Given the description of an element on the screen output the (x, y) to click on. 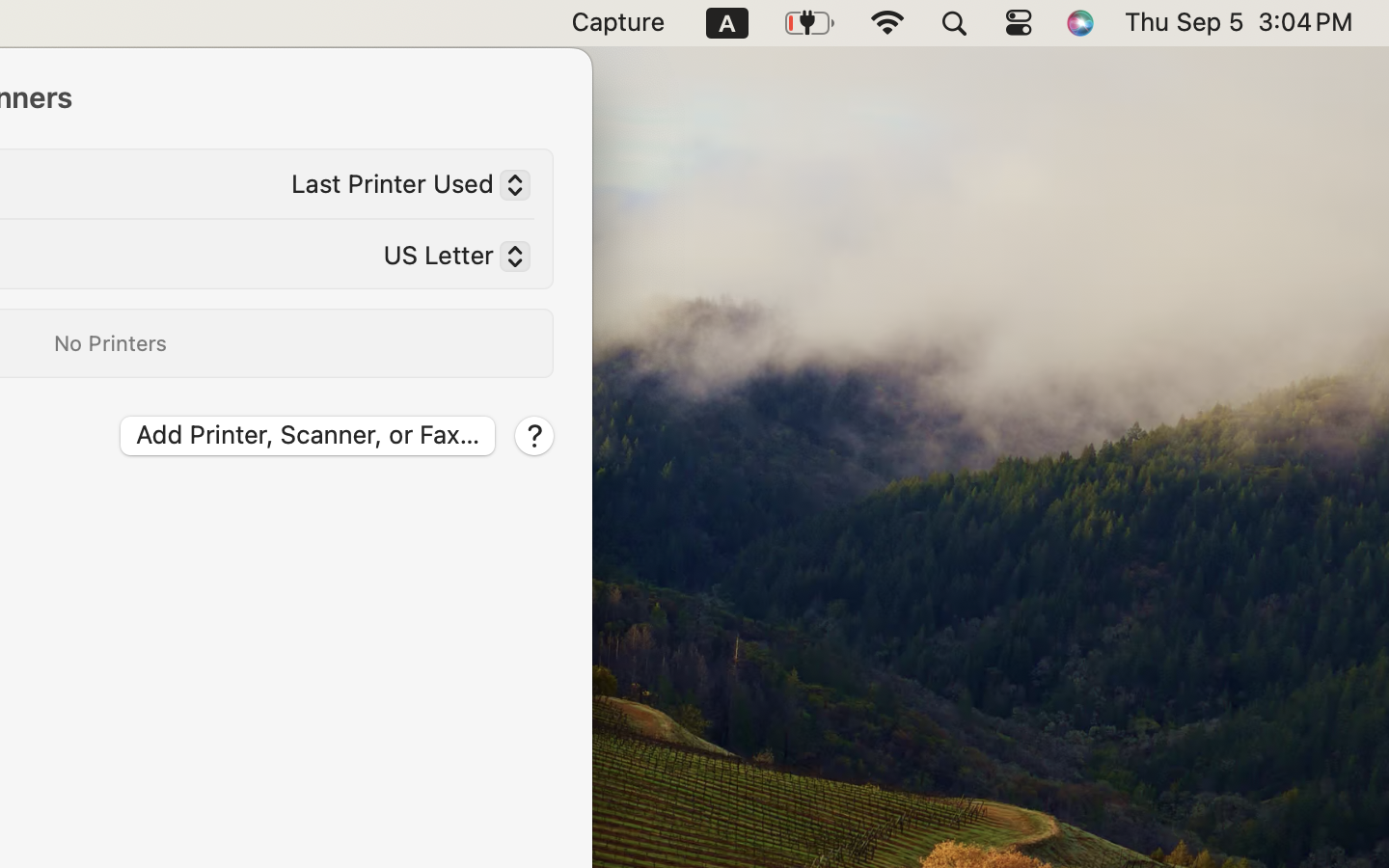
Last Printer Used Element type: AXPopUpButton (403, 187)
US Letter Element type: AXPopUpButton (448, 259)
